Given the description of an element on the screen output the (x, y) to click on. 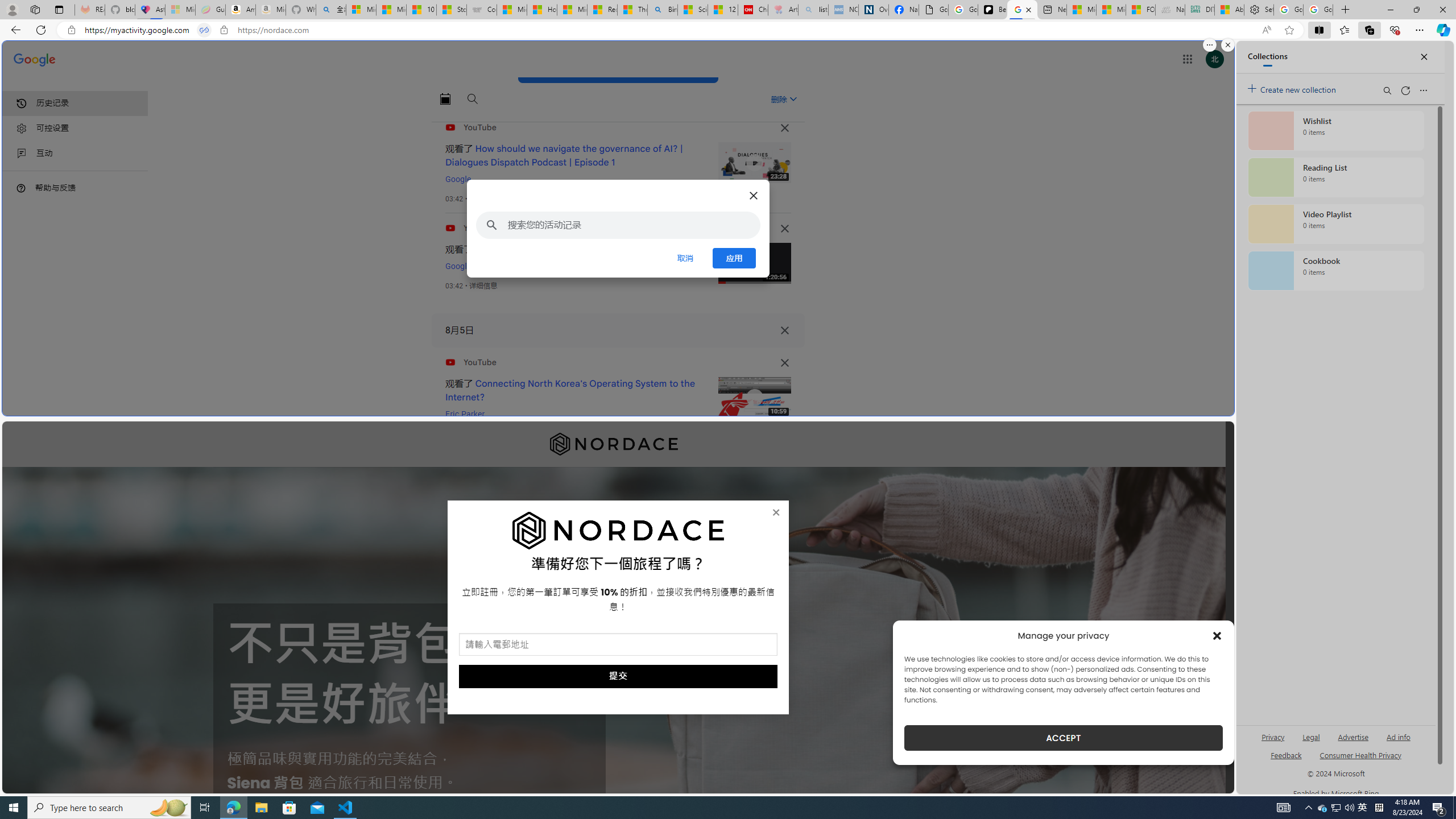
Class: Crv2ob LtPAIc (618, 225)
Class: asE2Ub NMm5M (792, 99)
